Given the description of an element on the screen output the (x, y) to click on. 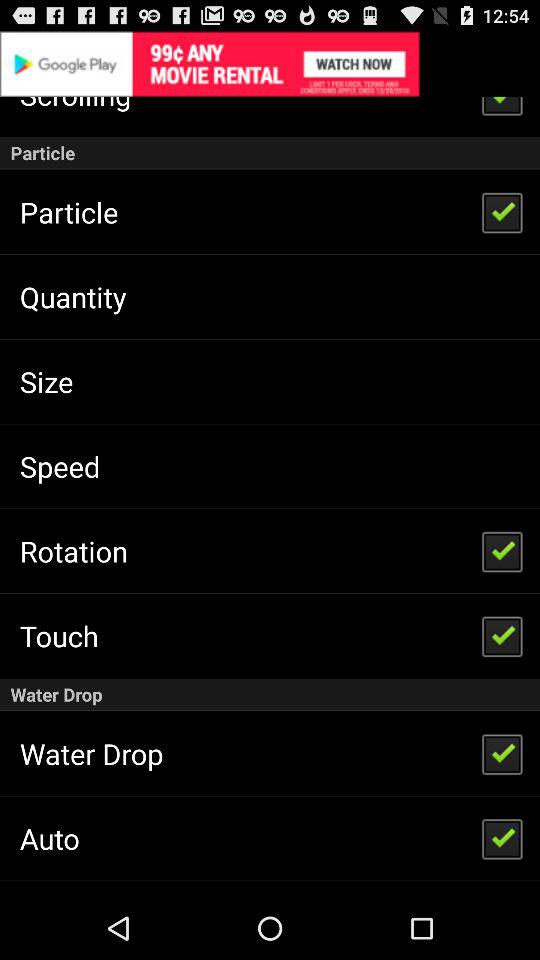
advertisement (270, 64)
